Given the description of an element on the screen output the (x, y) to click on. 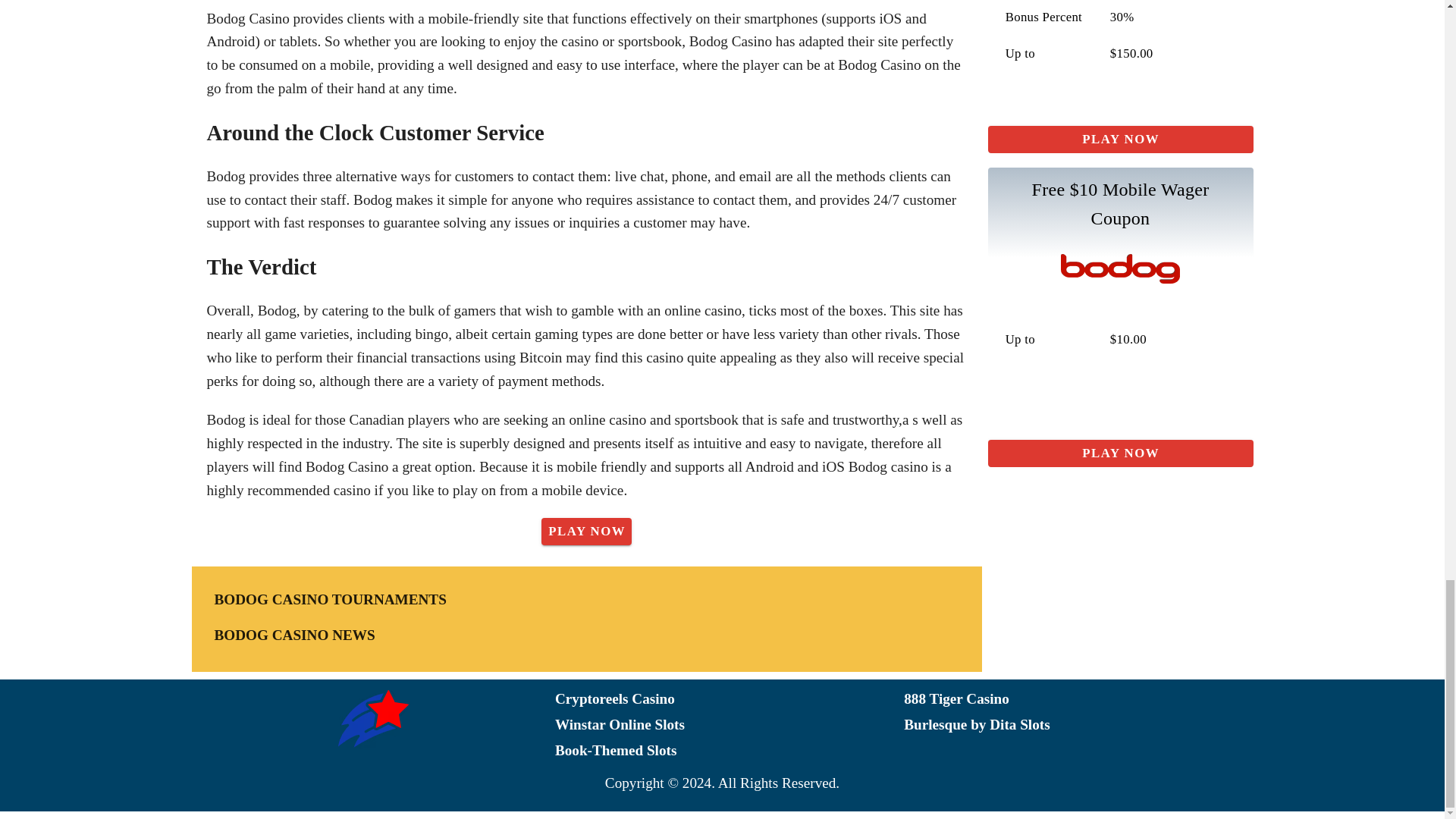
888 Tiger Casino (1078, 699)
PLAY NOW (586, 531)
Cryptoreels Casino (729, 699)
Book-Themed Slots (729, 751)
PLAY NOW (1119, 139)
Winstar Online Slots (729, 725)
Burlesque by Dita Slots (1078, 725)
PLAY NOW (1119, 452)
